Given the description of an element on the screen output the (x, y) to click on. 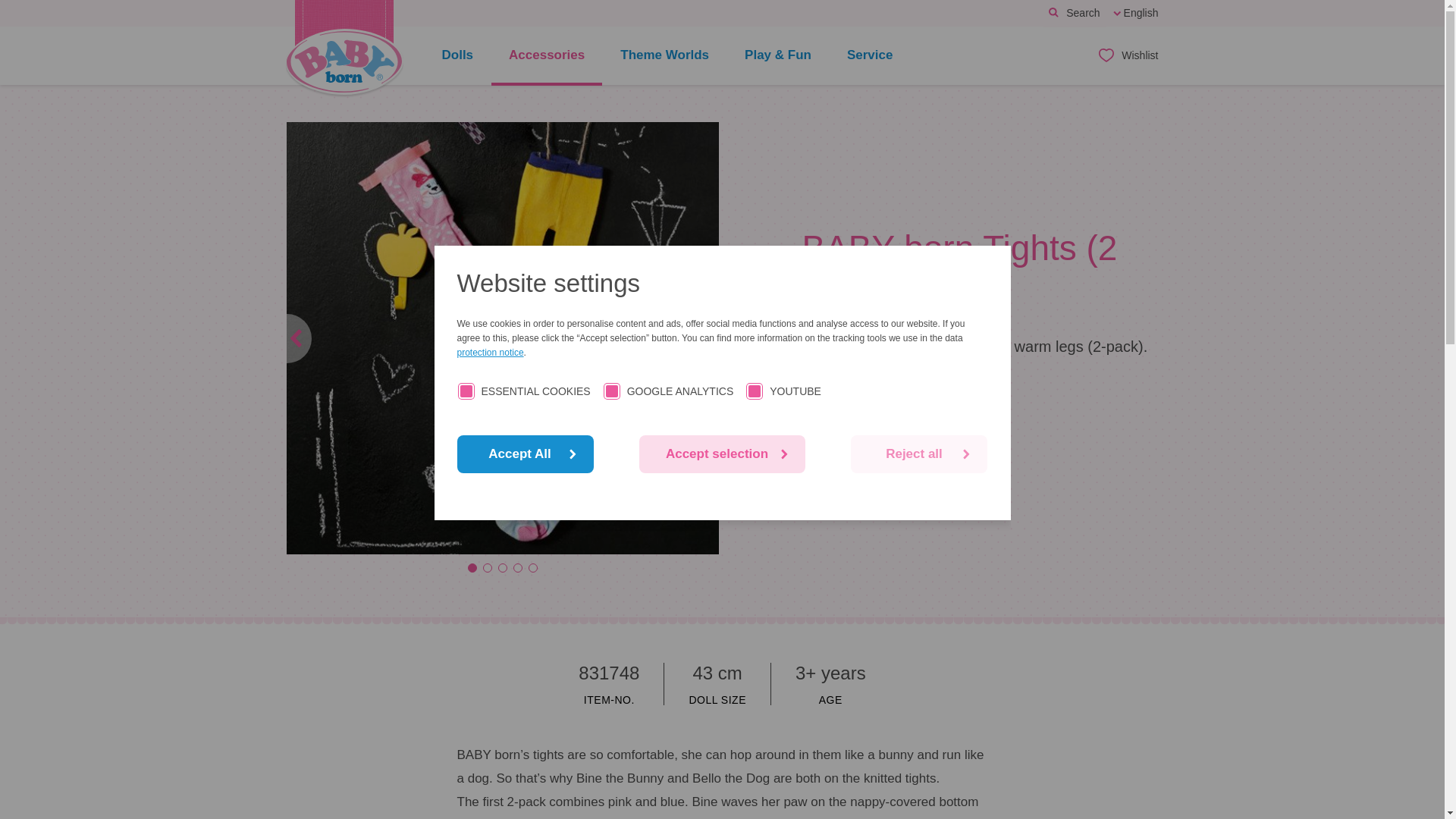
Dolls (458, 56)
Search (1074, 13)
Theme Worlds (664, 56)
Accessories (547, 56)
